Given the description of an element on the screen output the (x, y) to click on. 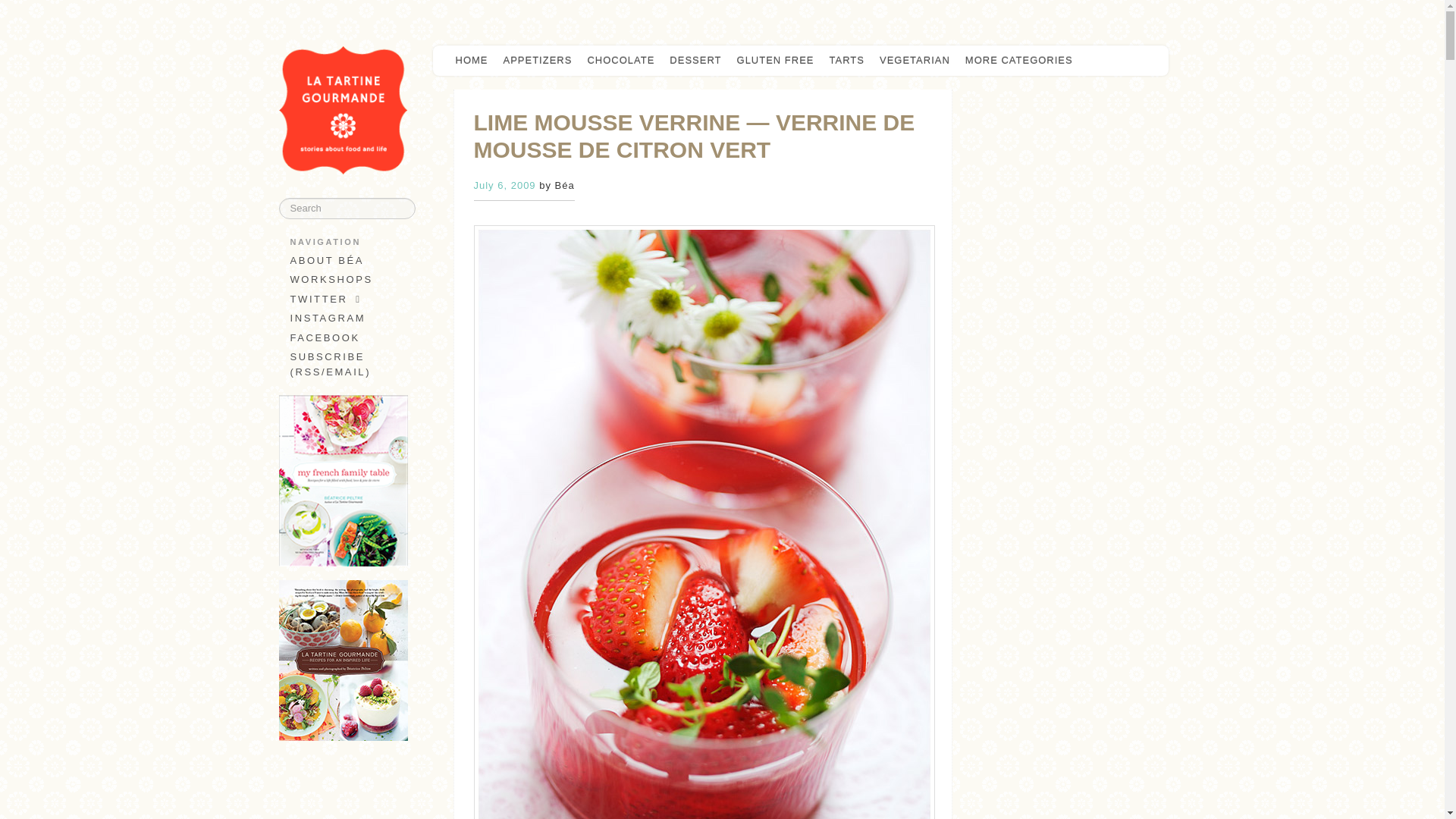
July 6, 2009 (504, 184)
DESSERT (695, 60)
HOME (470, 60)
WORKSHOPS (343, 279)
TARTS (847, 60)
FACEBOOK (343, 338)
APPETIZERS (537, 60)
INSTAGRAM (343, 318)
VEGETARIAN (915, 60)
TWITTER (343, 299)
MORE CATEGORIES (1022, 60)
CHOCOLATE (620, 60)
Advertisement (343, 793)
GLUTEN FREE (775, 60)
9:34 pm (504, 184)
